Given the description of an element on the screen output the (x, y) to click on. 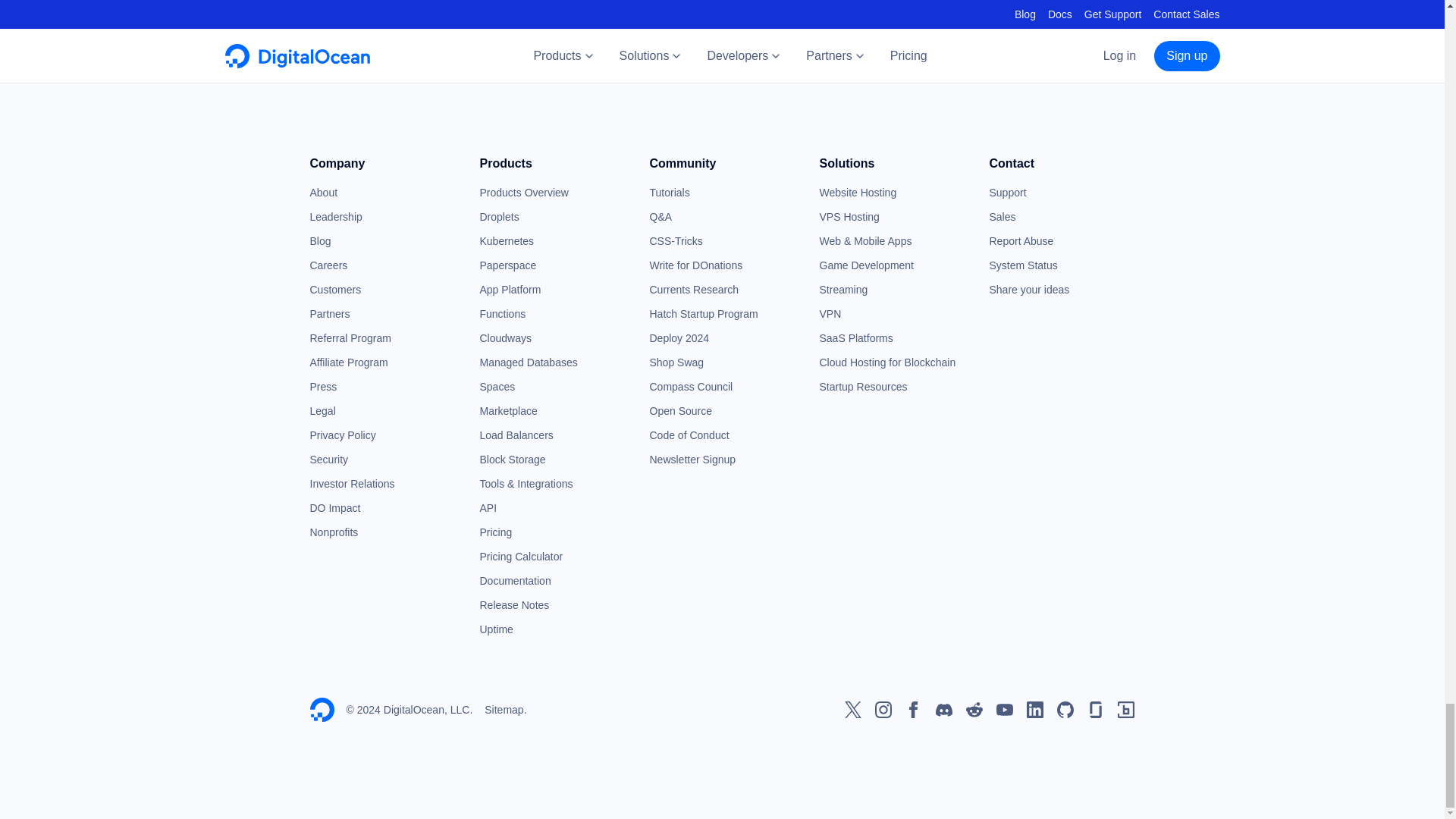
Glassdoor (1094, 710)
Facebook (912, 710)
GitHub (1064, 710)
Instagram (882, 710)
Reddit (972, 710)
LinkedIn (1034, 710)
YouTube (1003, 710)
Discord (943, 710)
BuiltInNYC (1125, 710)
